Given the description of an element on the screen output the (x, y) to click on. 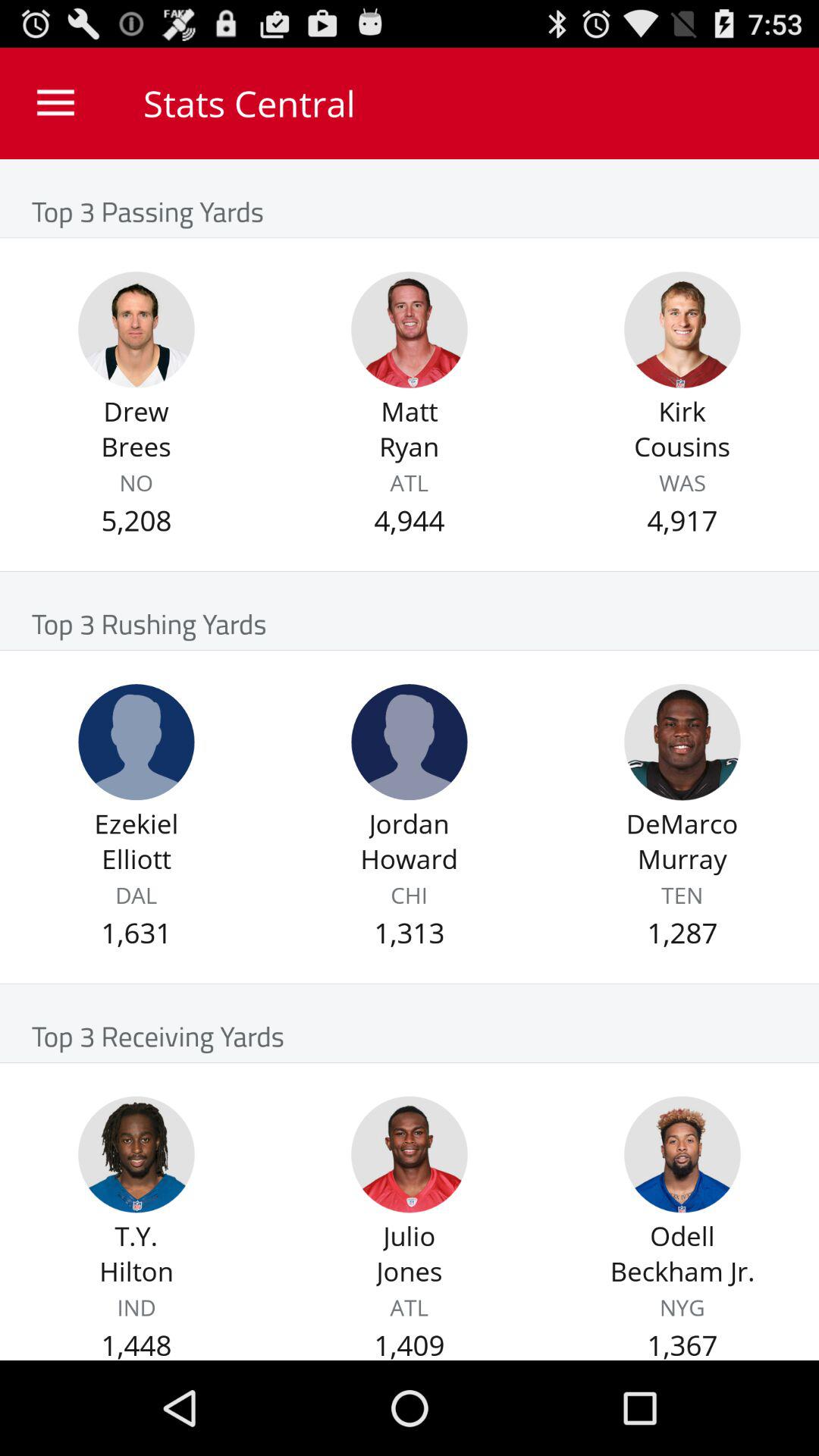
the image shows a mug shot of the player (682, 741)
